Given the description of an element on the screen output the (x, y) to click on. 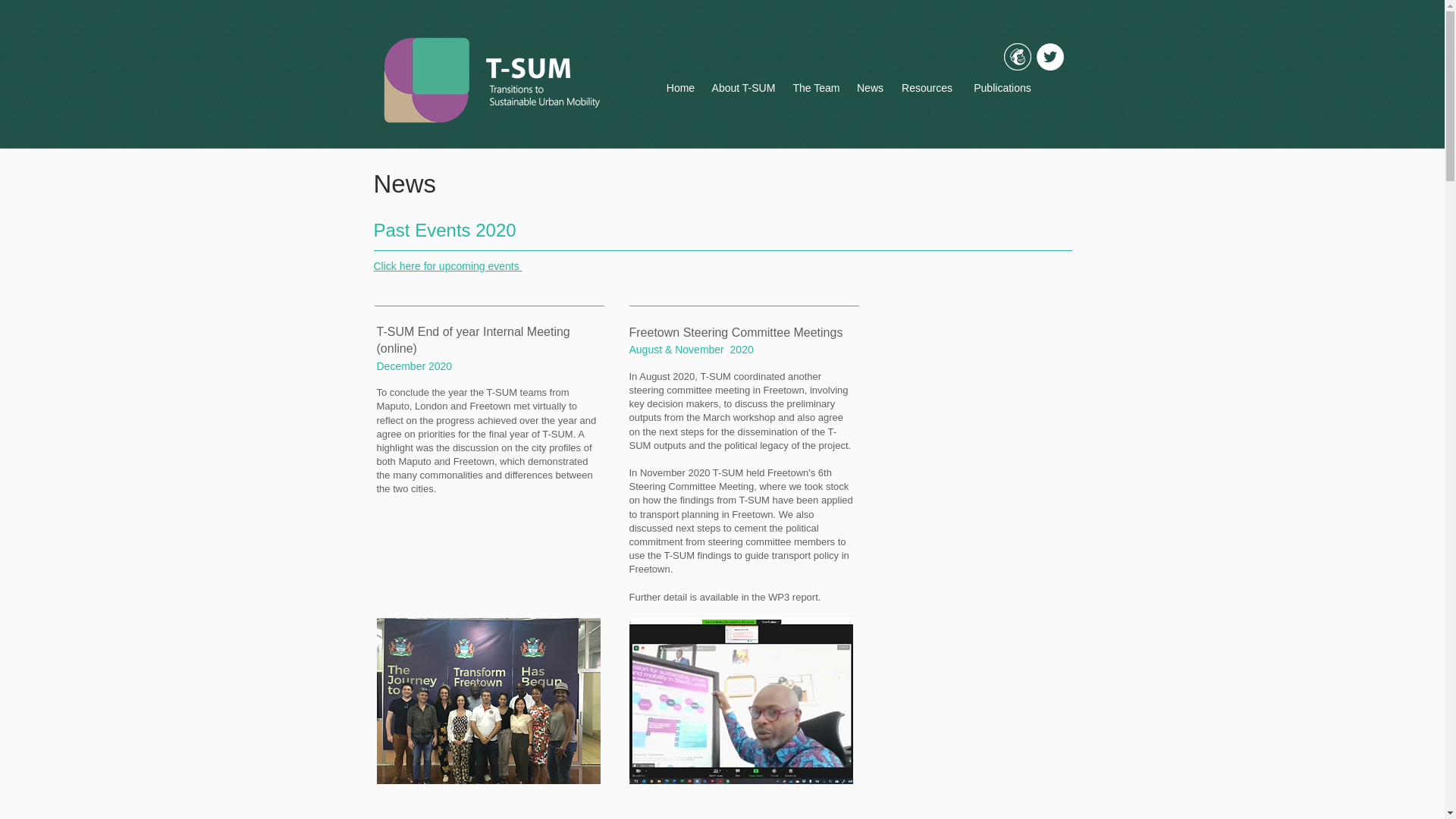
Home (680, 87)
News (869, 87)
Click here for upcoming events  (446, 265)
Publications (1002, 87)
Resources (926, 87)
The Team (816, 87)
Further detail is available in the WP3 report. (724, 596)
About T-SUM (743, 87)
